Given the description of an element on the screen output the (x, y) to click on. 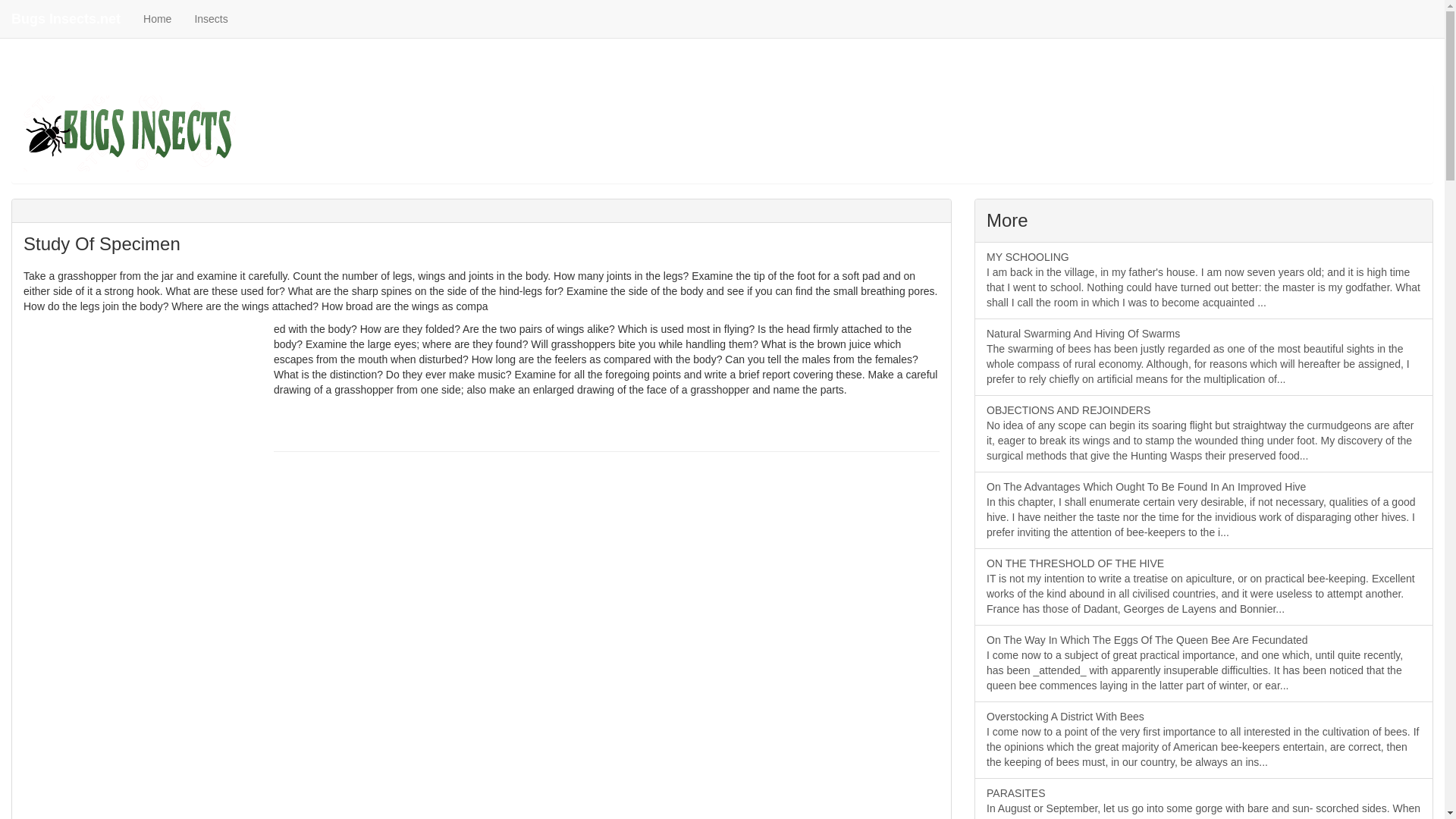
Bugs Insects.net (66, 18)
Home (157, 18)
Insects (210, 18)
